Given the description of an element on the screen output the (x, y) to click on. 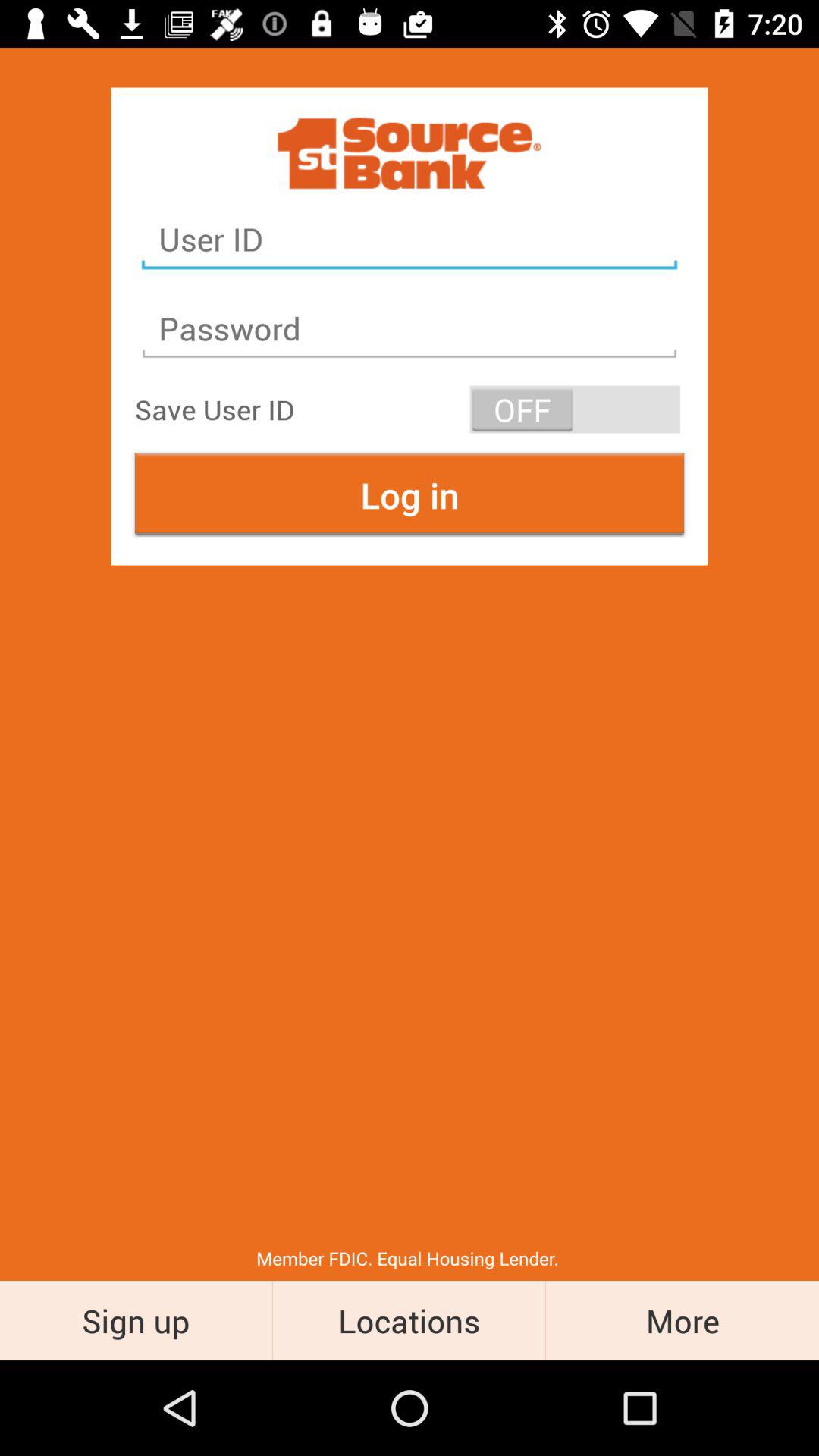
turn off the item next to the sign up icon (409, 1320)
